Given the description of an element on the screen output the (x, y) to click on. 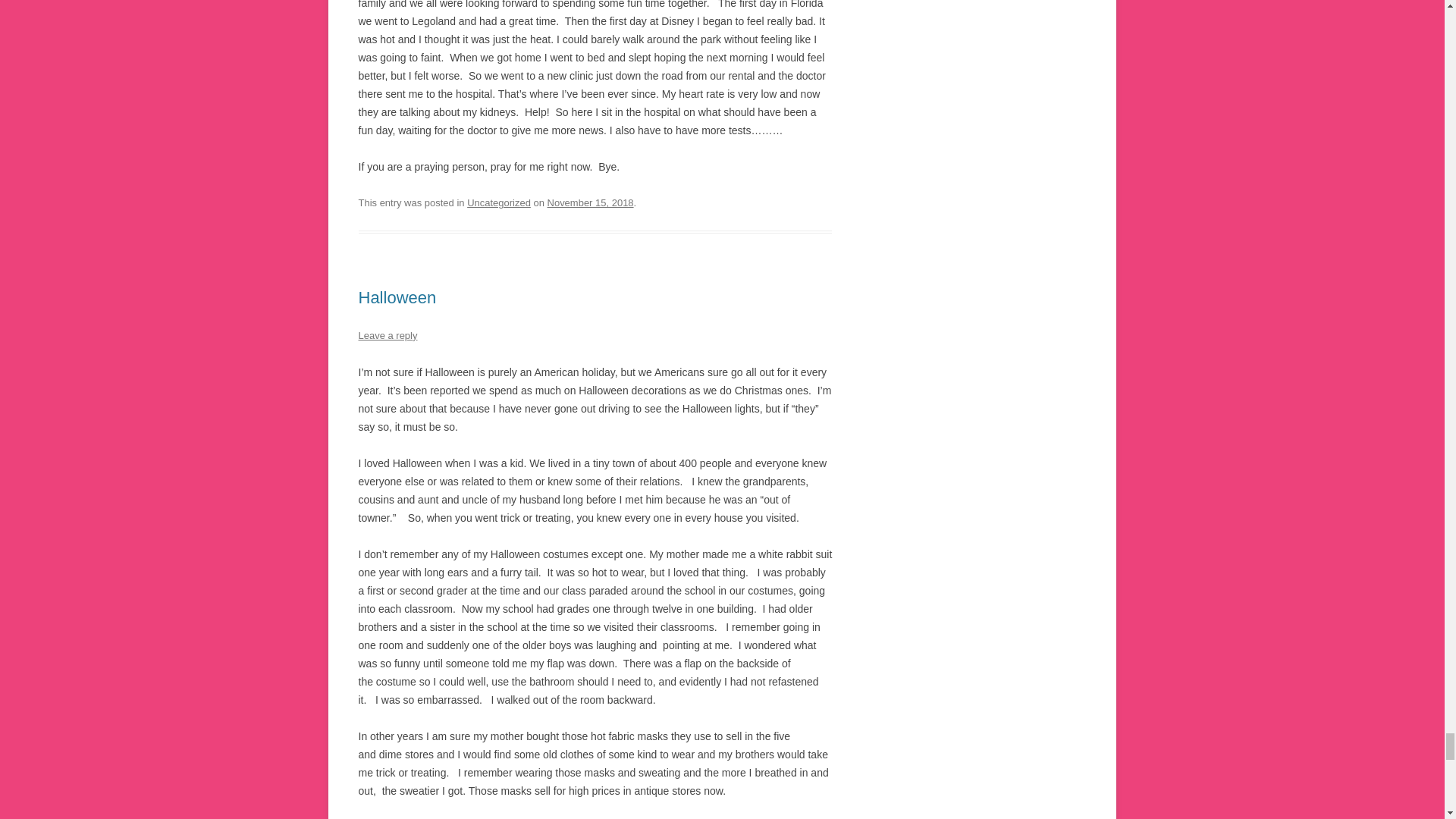
3:24 pm (590, 202)
